Given the description of an element on the screen output the (x, y) to click on. 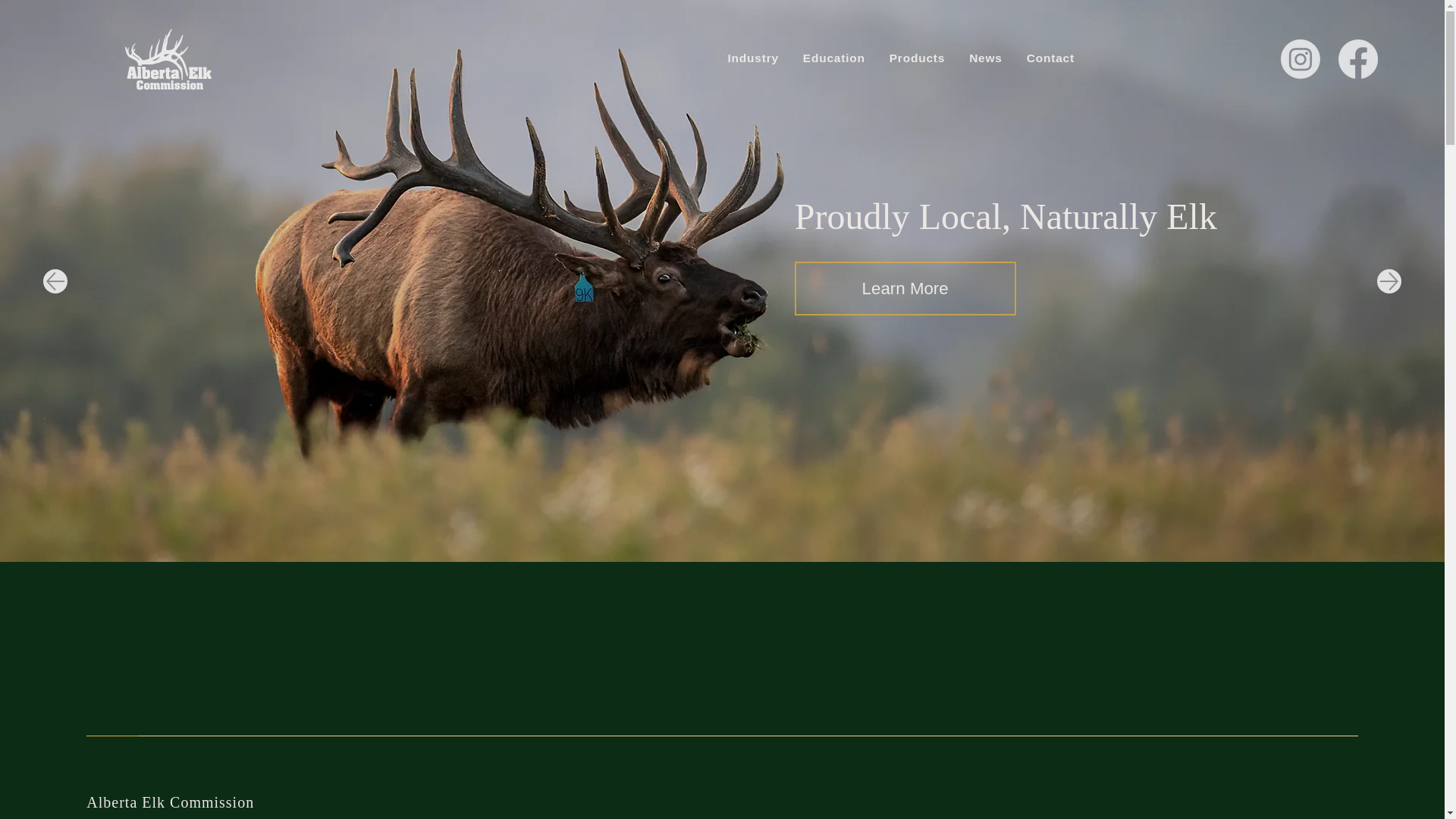
Contact (1050, 58)
Industry (751, 58)
News (986, 58)
Products (916, 58)
Learn More (905, 288)
Education (833, 58)
